Given the description of an element on the screen output the (x, y) to click on. 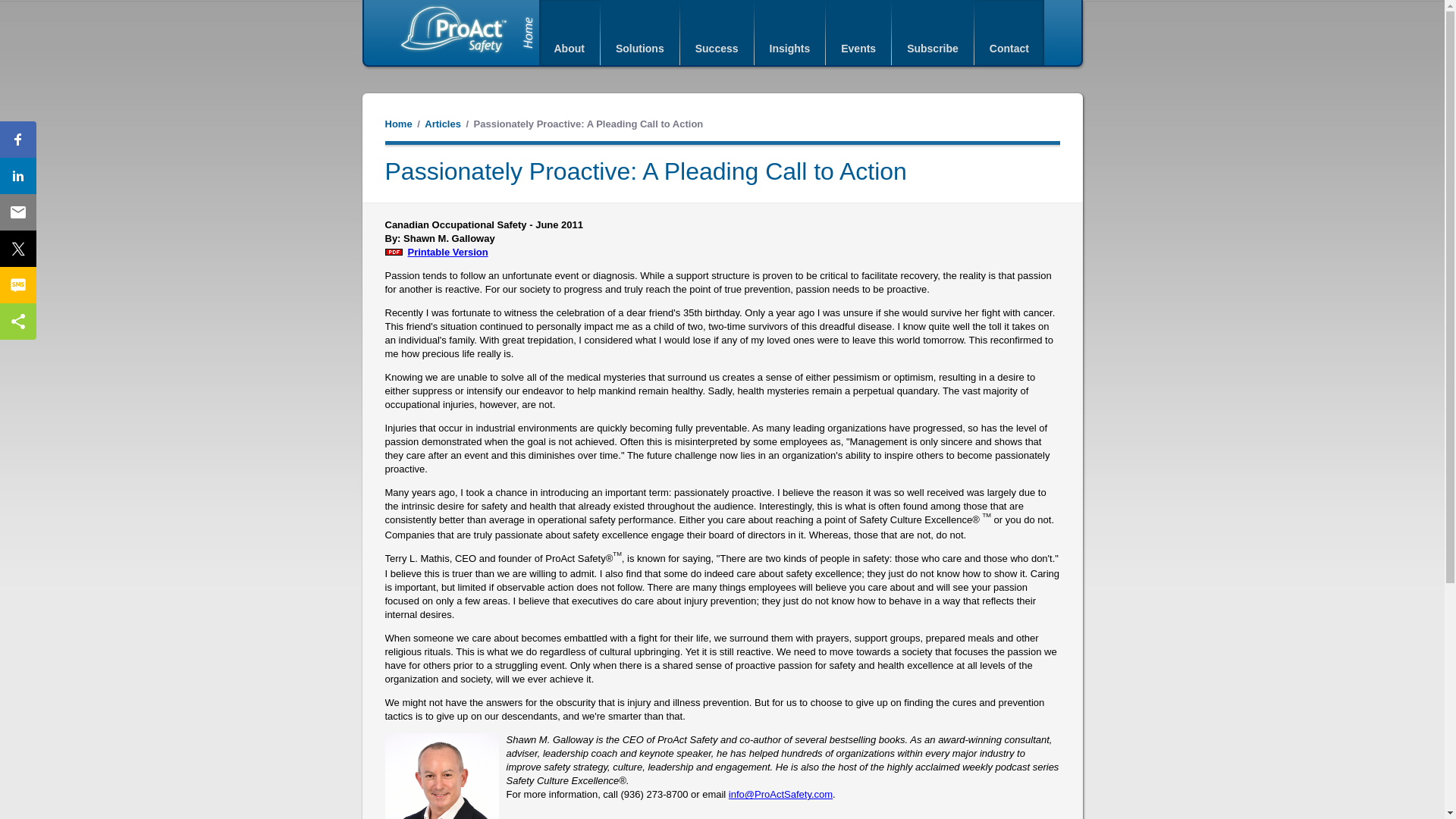
Insights (789, 32)
Success (716, 32)
Solutions (639, 32)
About (568, 32)
